Given the description of an element on the screen output the (x, y) to click on. 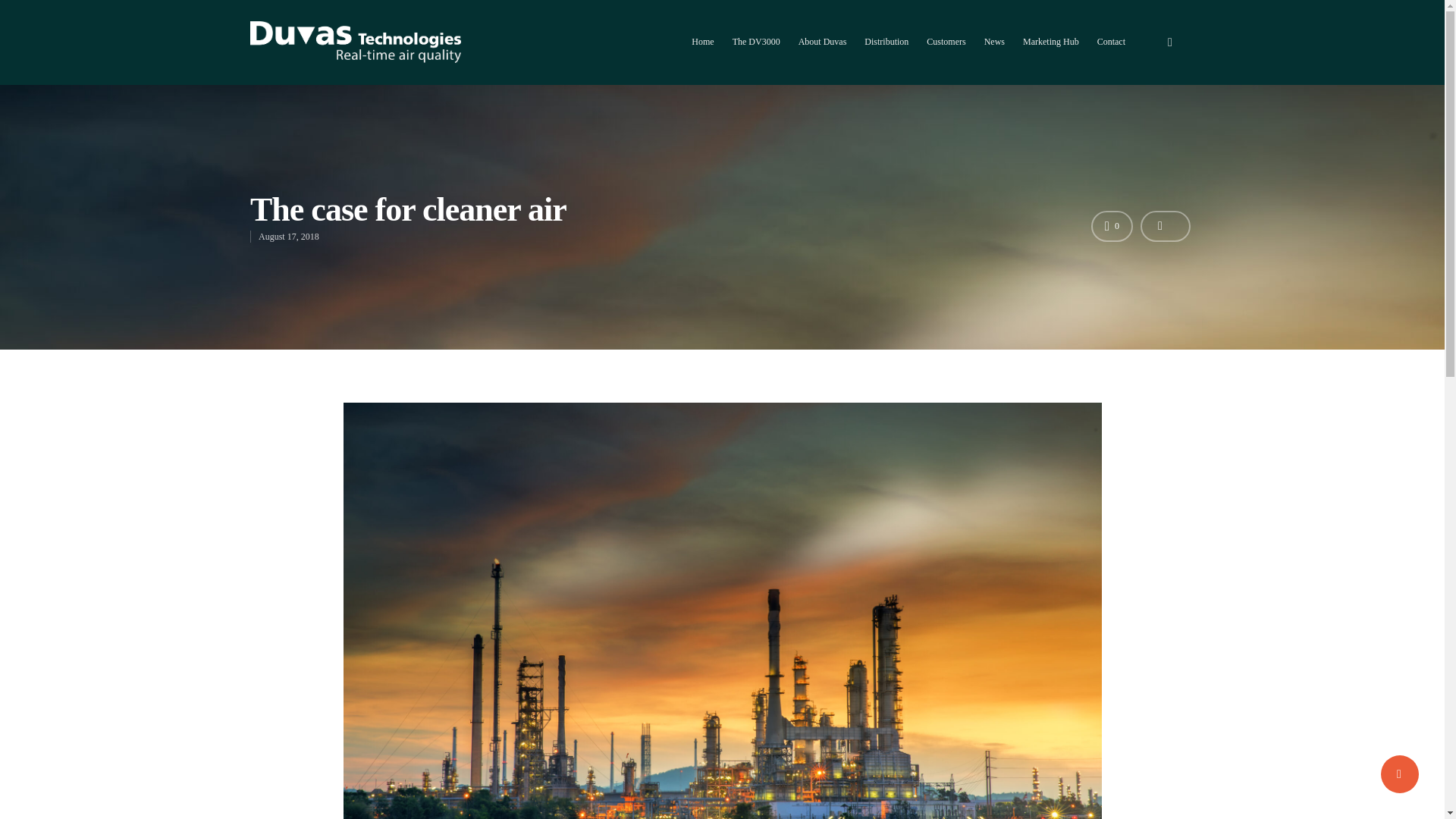
Home (702, 52)
News (994, 52)
Love this (1111, 225)
Customers (945, 52)
Private (1082, 557)
Distribution (886, 52)
TCEQ unveils new and improved emergency response assets (842, 703)
The DV3000 (756, 52)
0 (1111, 225)
Contact (1111, 52)
DV3000 Used in Rapid Response to Recent Cold Snap in Texas (842, 613)
About Duvas (822, 52)
Marketing Hub (1050, 52)
